Given the description of an element on the screen output the (x, y) to click on. 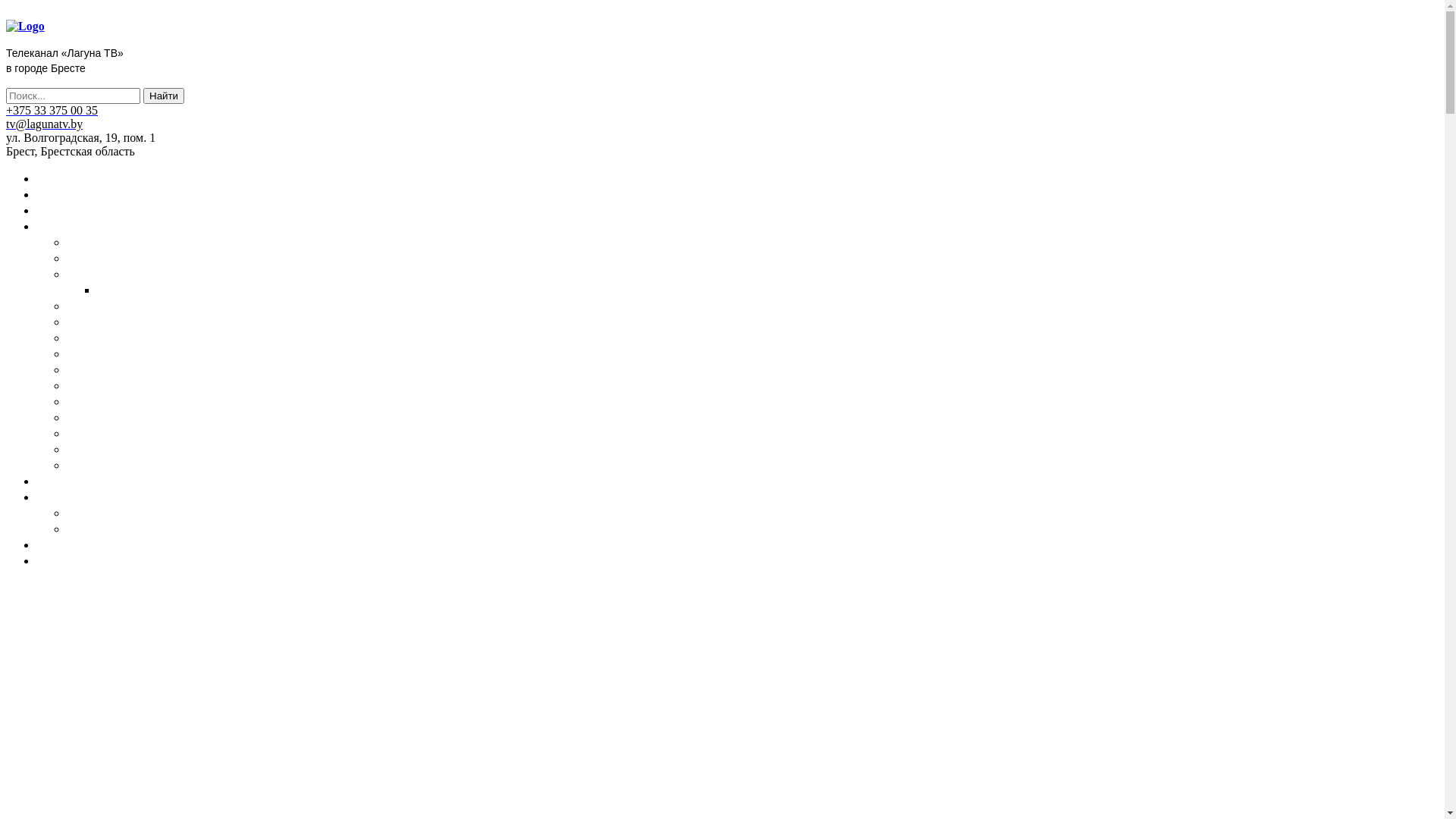
+375 33 375 00 35 Element type: text (51, 109)
tv@lagunatv.by Element type: text (44, 123)
